Given the description of an element on the screen output the (x, y) to click on. 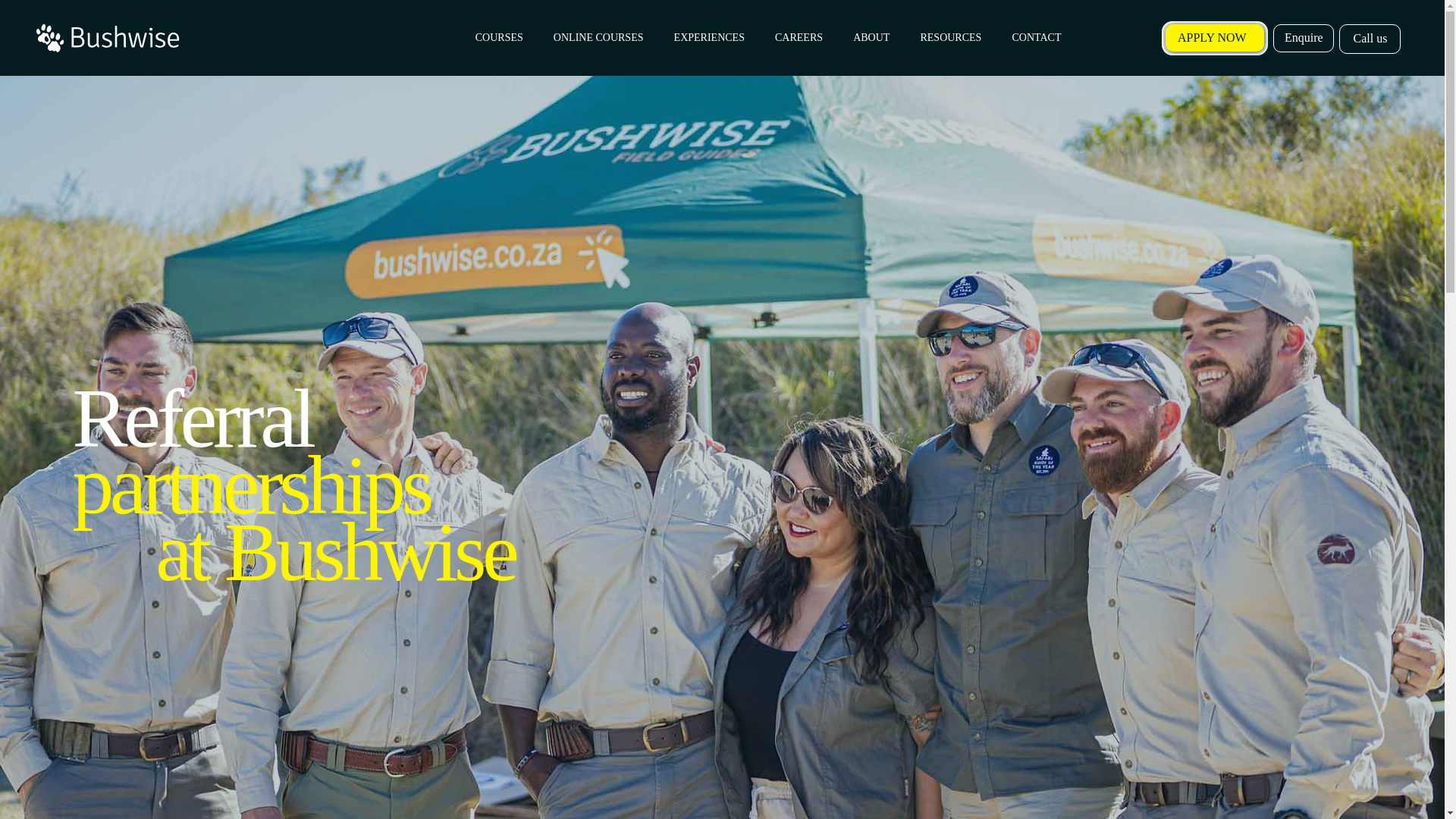
CONTACT (1035, 38)
COURSES (499, 38)
APPLY NOW (1214, 37)
Enquire (1302, 38)
Call us (1369, 39)
ONLINE COURSES (598, 38)
